Given the description of an element on the screen output the (x, y) to click on. 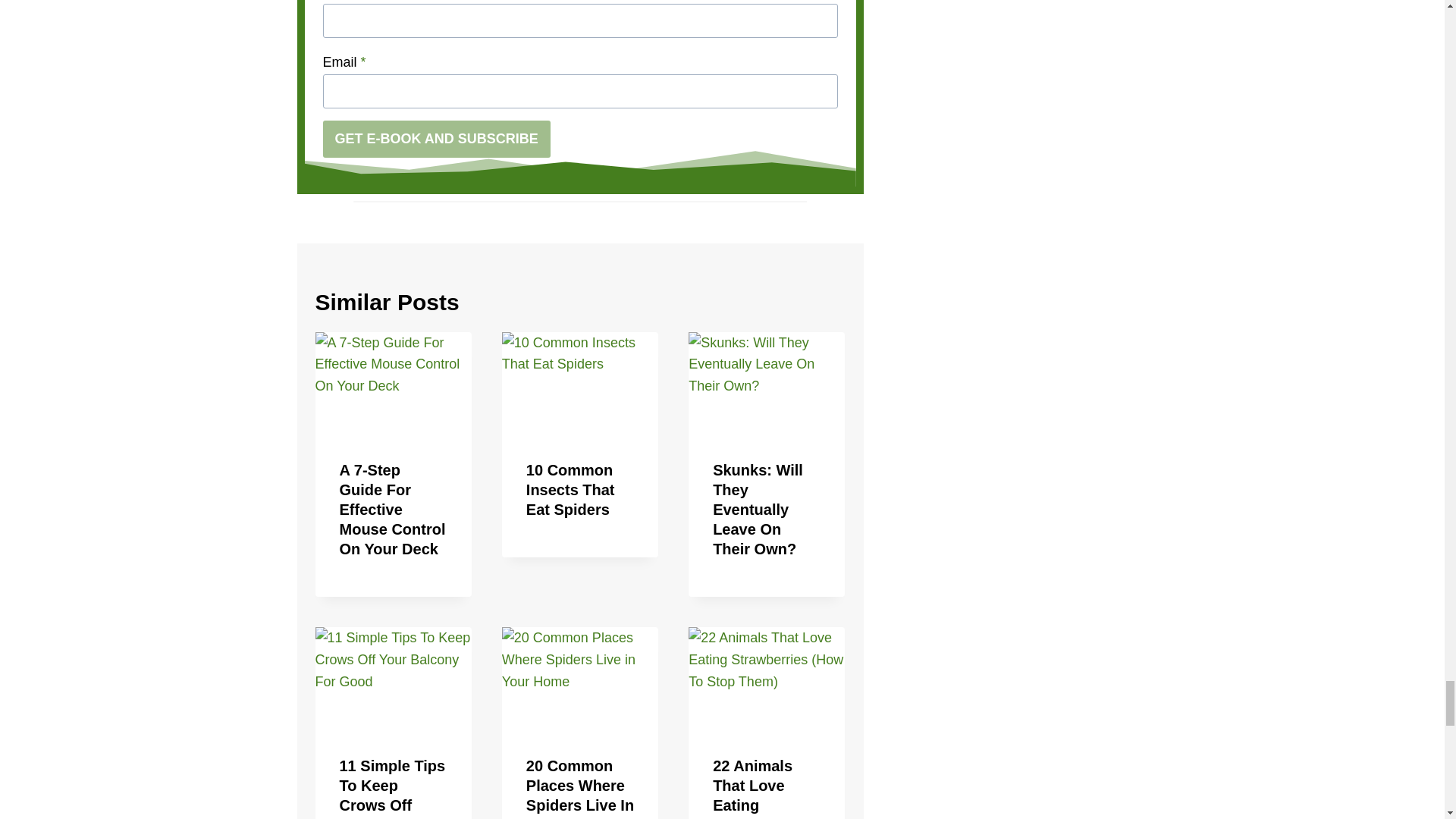
GET E-BOOK AND SUBSCRIBE (436, 138)
